Given the description of an element on the screen output the (x, y) to click on. 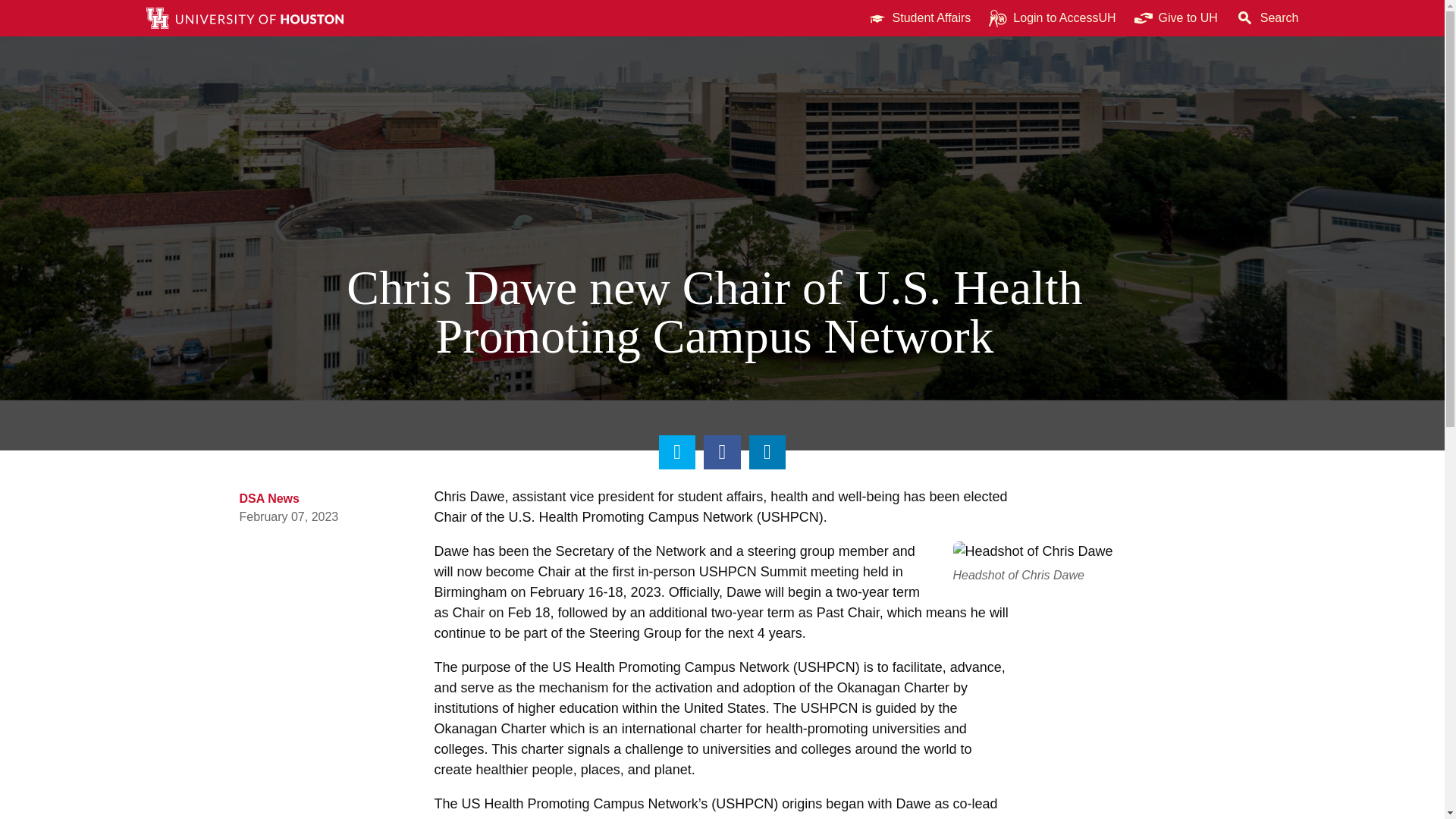
Login to AccessUH (1051, 18)
Search (1267, 18)
University of Houston (1208, 17)
Student Affairs (919, 18)
DSA News (269, 498)
Give to UH (1176, 18)
